Given the description of an element on the screen output the (x, y) to click on. 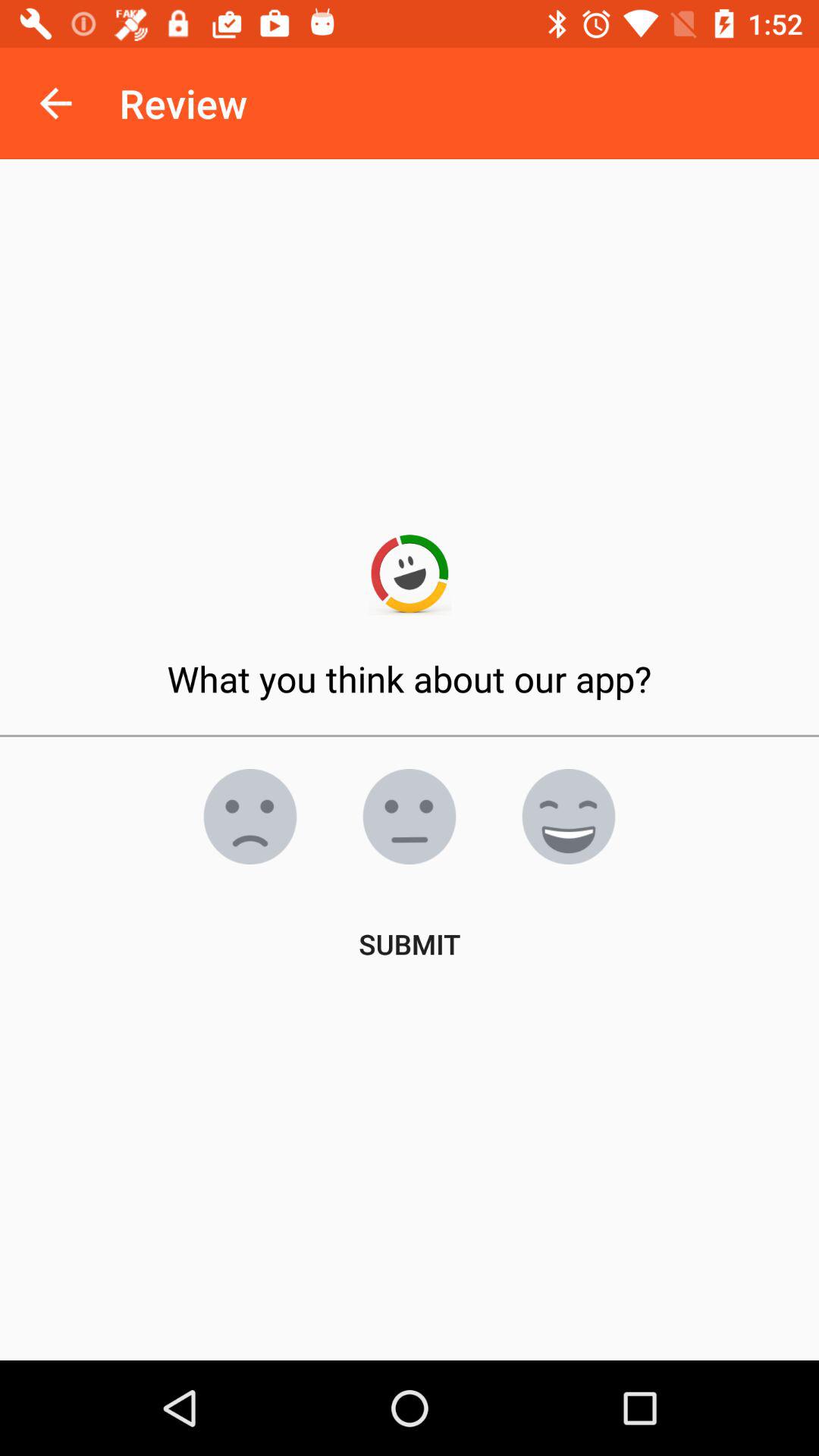
neutral face (409, 816)
